Given the description of an element on the screen output the (x, y) to click on. 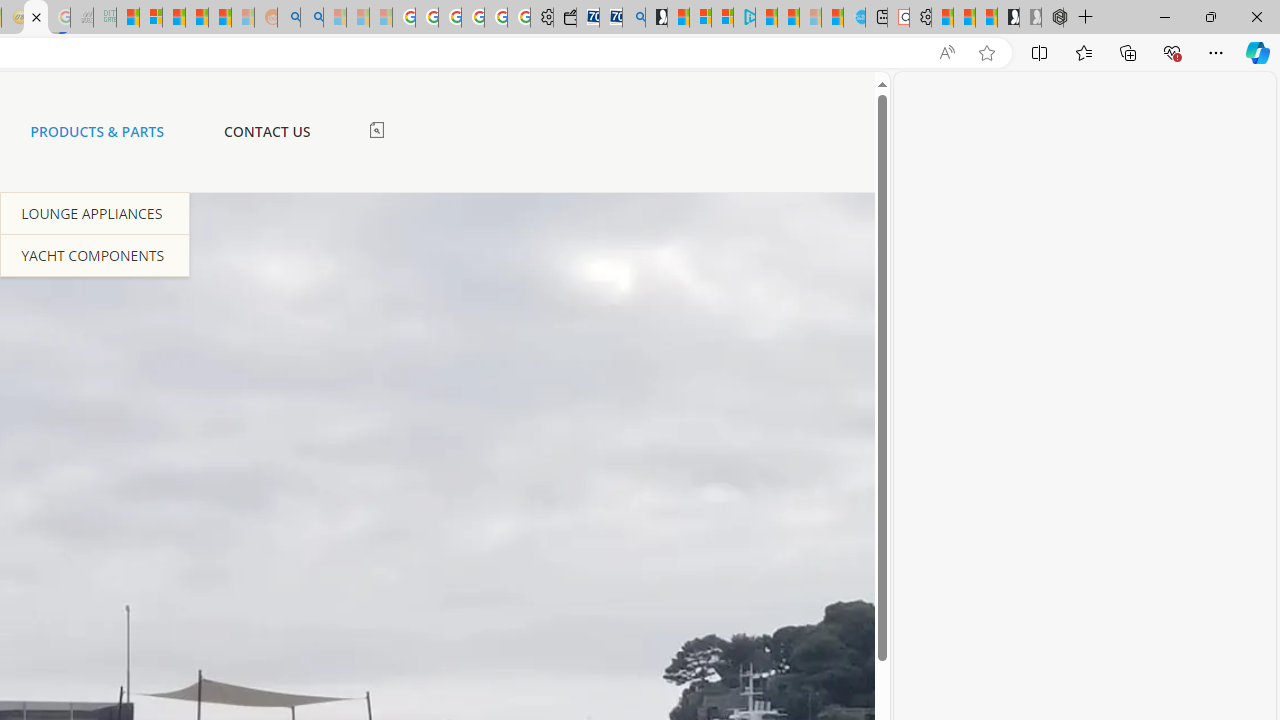
Cheap Car Rentals - Save70.com (611, 17)
Student Loan Update: Forgiveness Program Ends This Month (219, 17)
Microsoft Start - Sleeping (810, 17)
CONTACT US (266, 132)
